Given the description of an element on the screen output the (x, y) to click on. 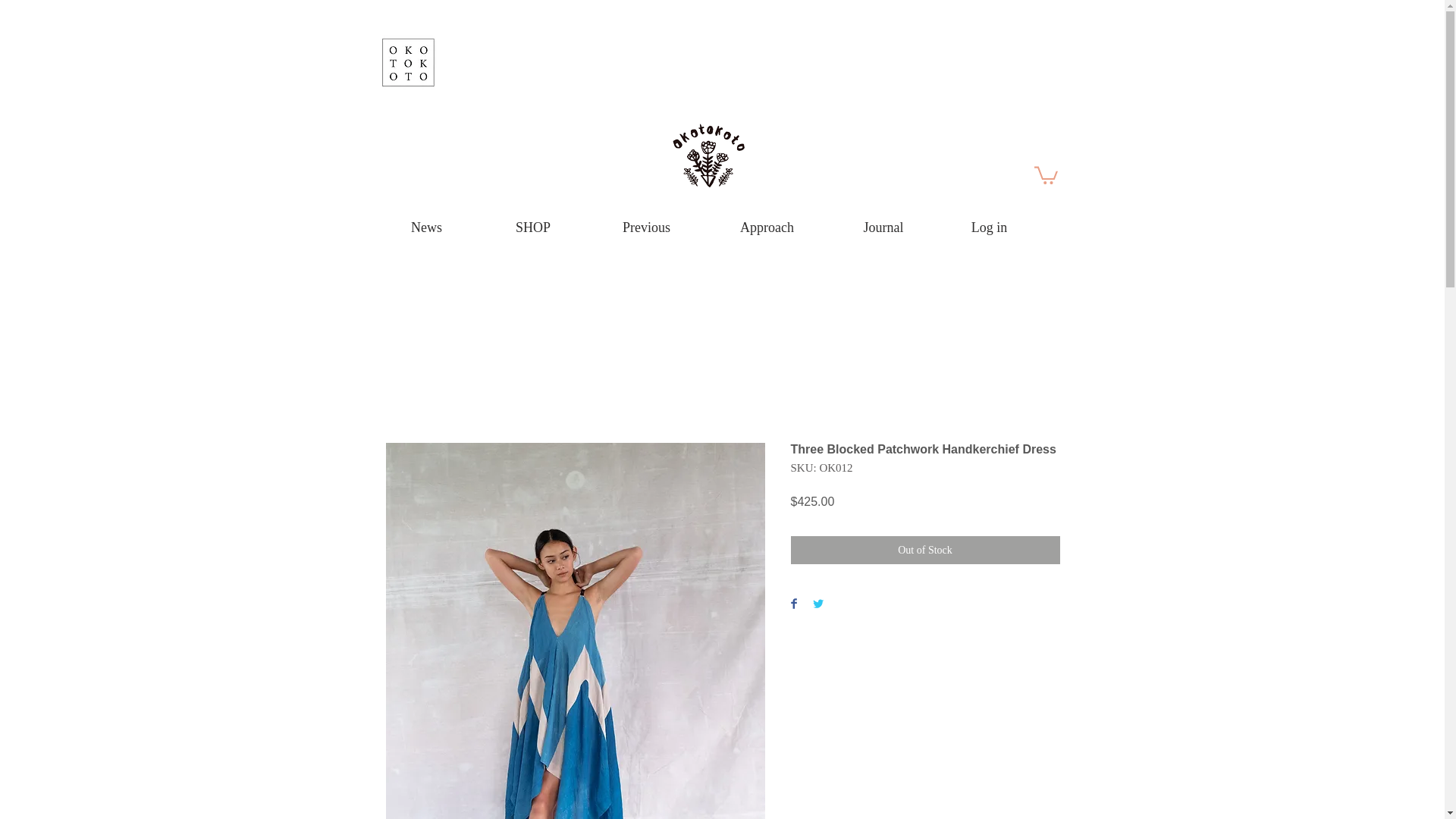
Previous (646, 227)
Log in (989, 227)
Approach (766, 227)
Out of Stock (924, 550)
News (425, 227)
SHOP (532, 227)
